Given the description of an element on the screen output the (x, y) to click on. 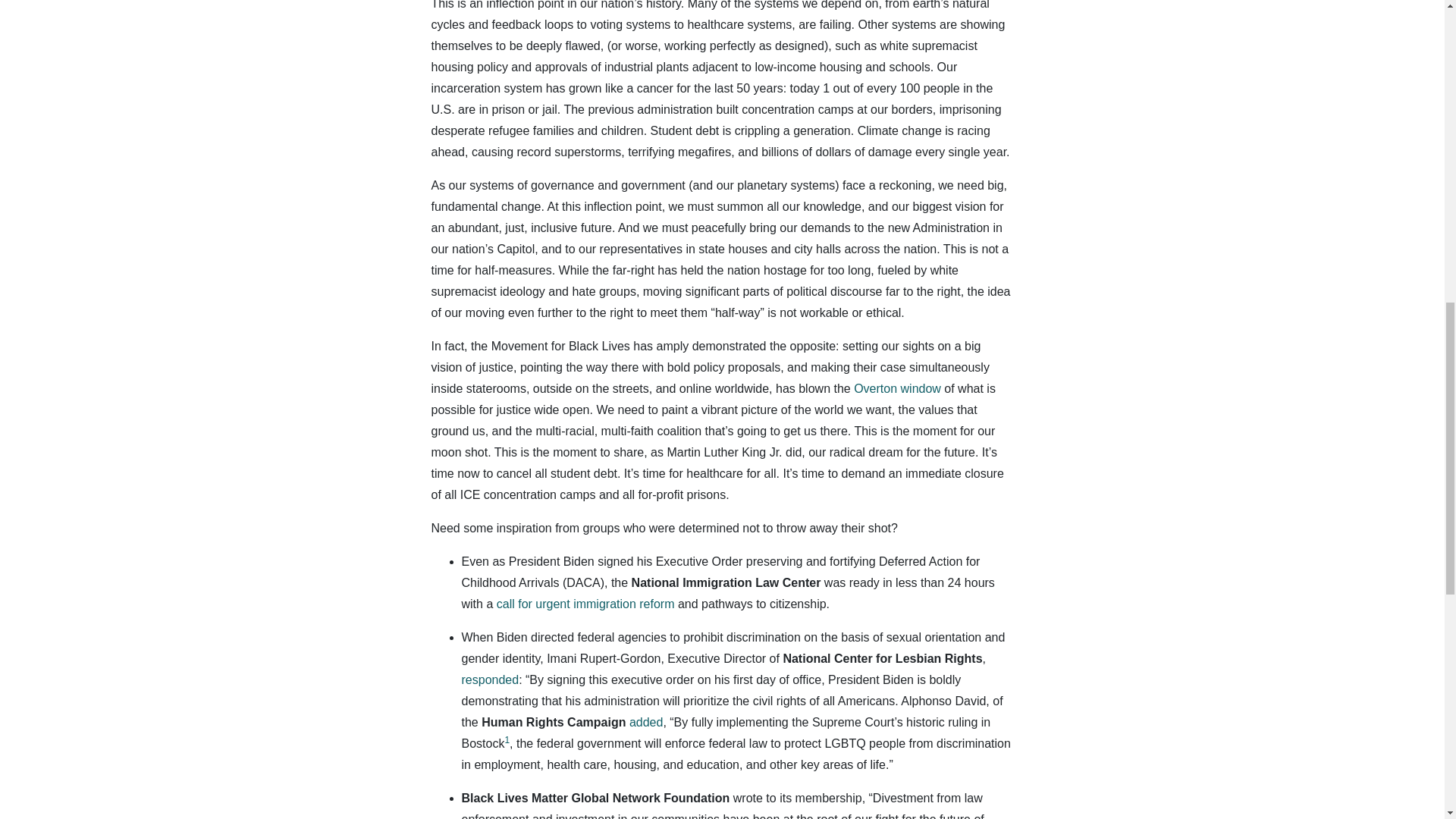
call for urgent immigration reform (585, 603)
added (645, 721)
responded (489, 679)
Overton window (896, 388)
